Given the description of an element on the screen output the (x, y) to click on. 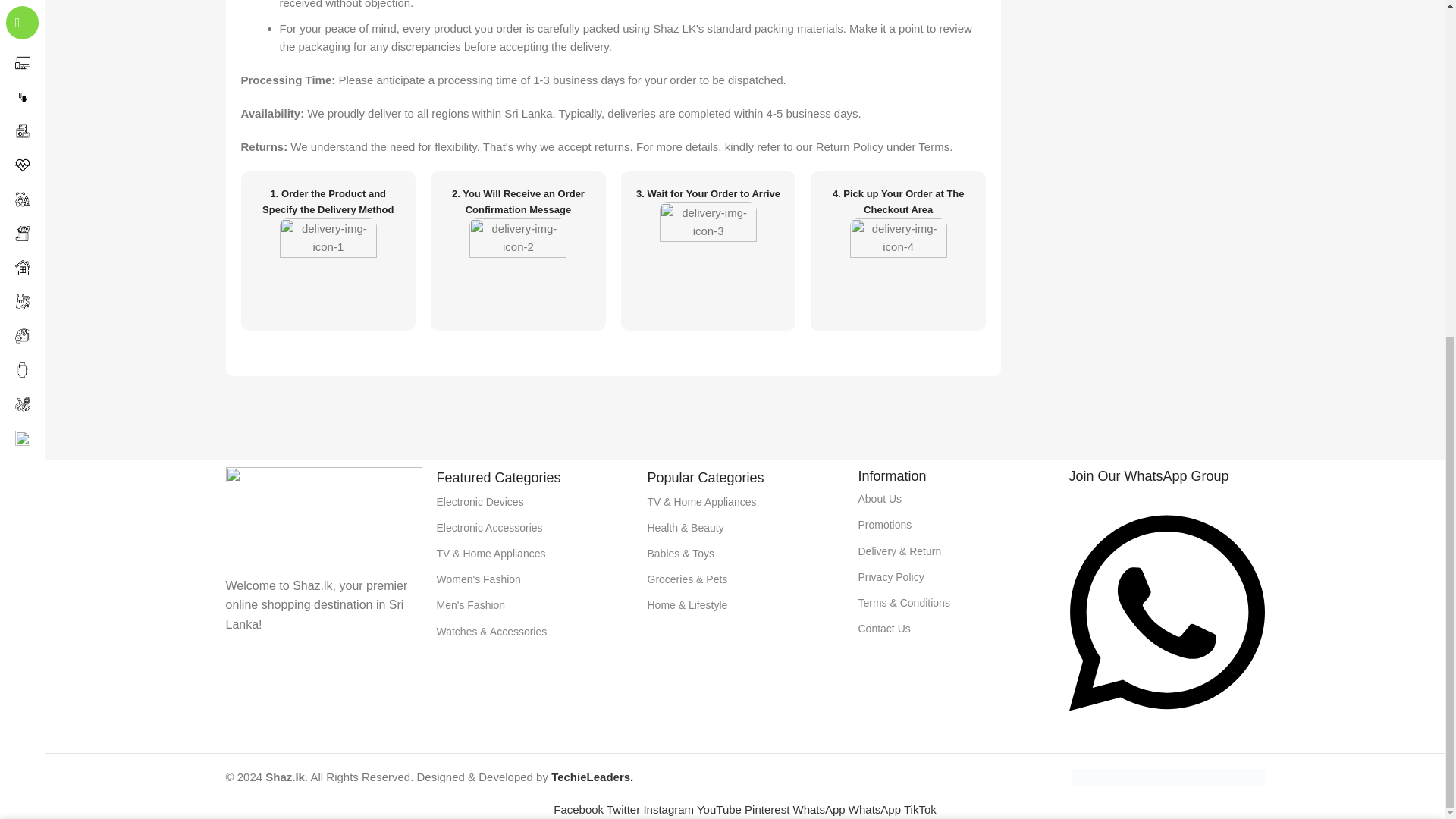
delivery-img-icon-4 (898, 266)
delivery-img-icon-1 (328, 266)
delivery-img-icon-2 (517, 266)
delivery-img-icon-3 (708, 250)
